Given the description of an element on the screen output the (x, y) to click on. 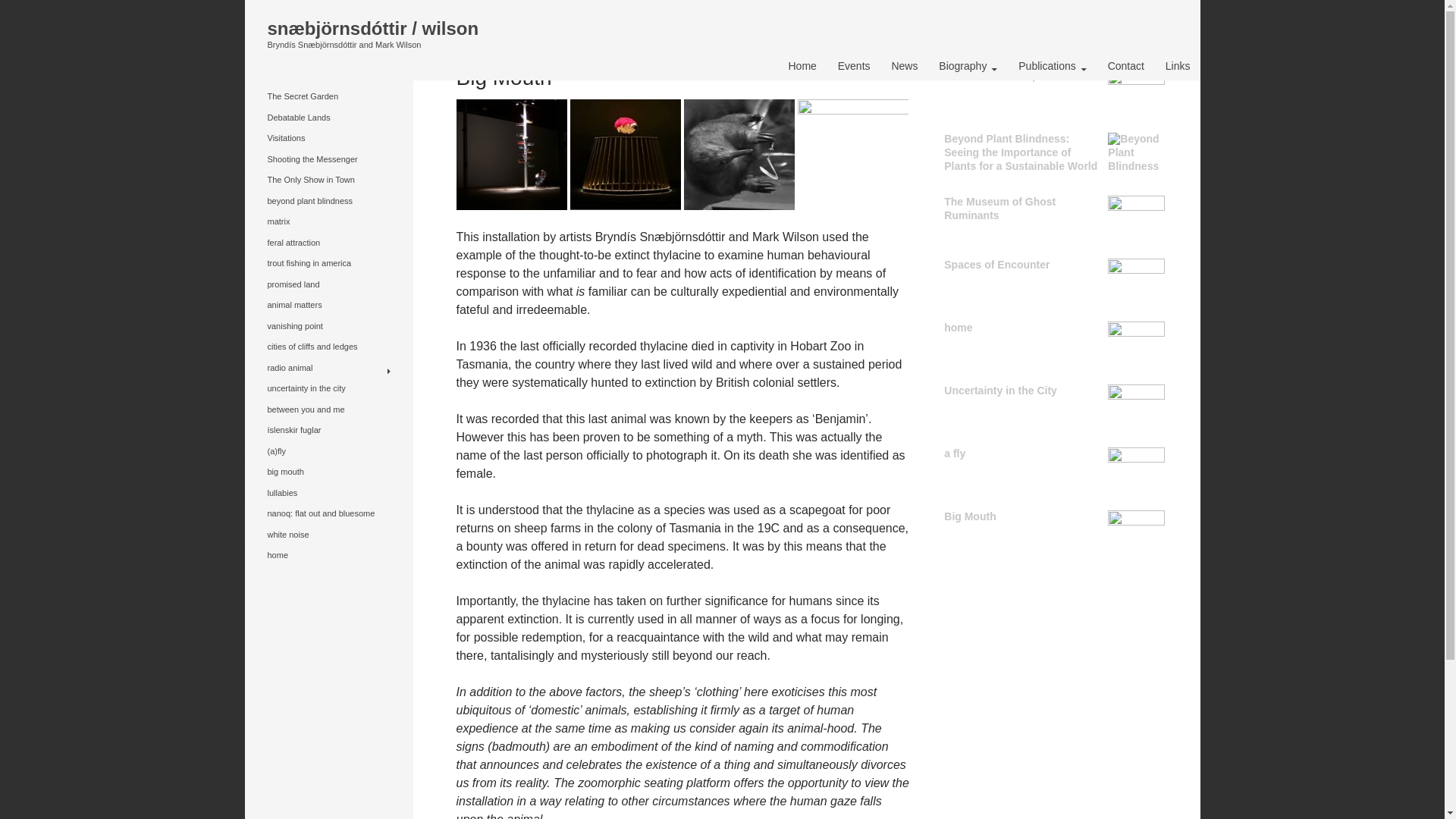
Home (801, 65)
Spaces of Encounter (1053, 264)
News (904, 65)
Visitations (328, 137)
Publications (1052, 65)
home (1053, 327)
Shooting the Messenger (328, 158)
Big Mouth (1053, 517)
Uncertainty in the City (1053, 391)
